Given the description of an element on the screen output the (x, y) to click on. 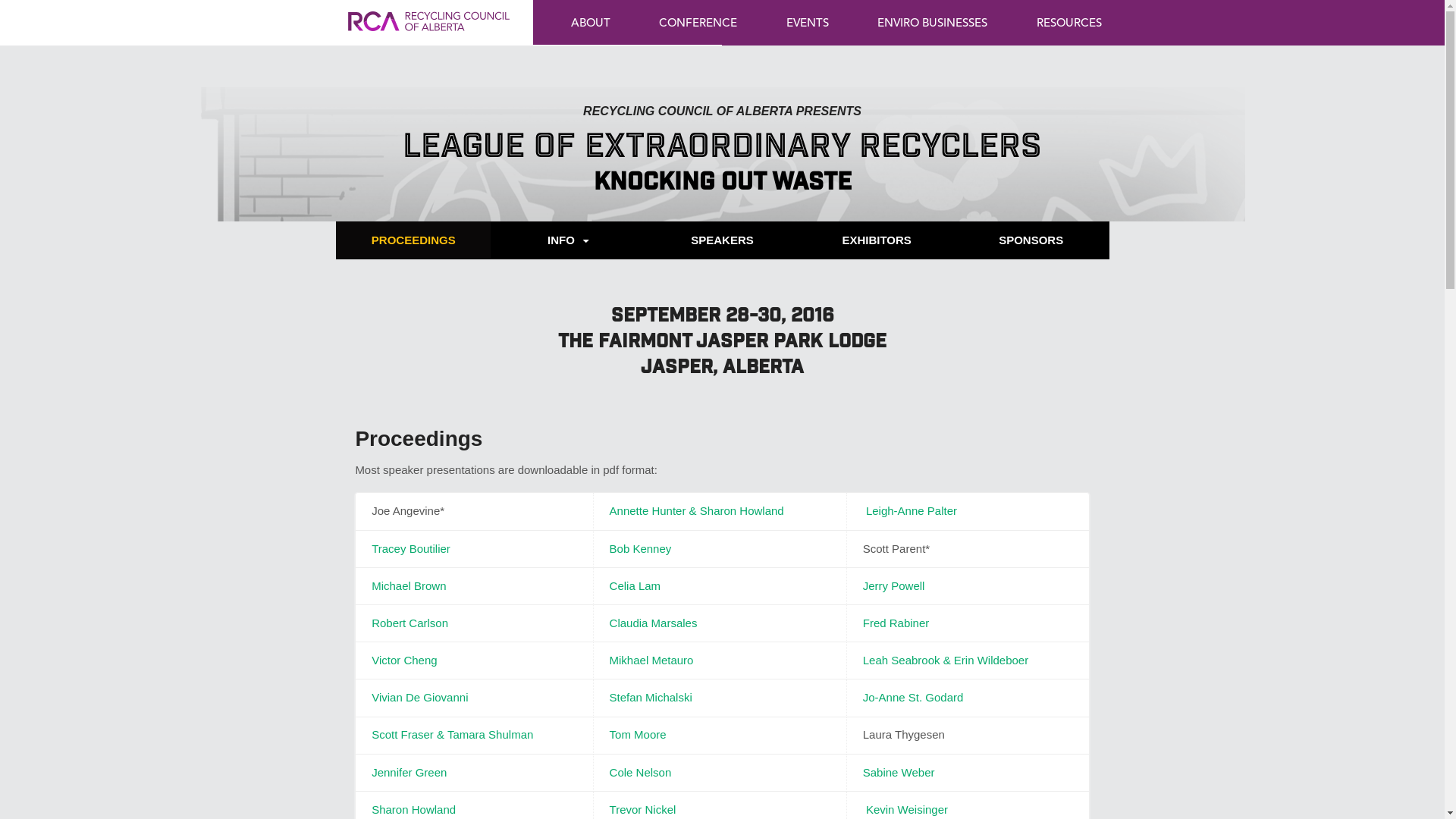
ABOUT Element type: text (590, 22)
Sharon Howland Element type: text (413, 809)
SPEAKERS Element type: text (722, 240)
Fred Rabiner Element type: text (895, 622)
Sabine Weber Element type: text (898, 771)
Victor Cheng Element type: text (403, 659)
Tracey Boutilier Element type: text (410, 547)
Claudia Marsales Element type: text (653, 622)
INFO Element type: text (567, 240)
Leah Seabrook & Erin Wildeboer Element type: text (945, 659)
Mikhael Metauro Element type: text (651, 659)
Kevin Weisinger Element type: text (906, 809)
Leigh-Anne Palter Element type: text (911, 510)
SPONSORS Element type: text (1030, 240)
EVENTS Element type: text (807, 22)
Celia Lam Element type: text (635, 585)
Cole Nelson Element type: text (640, 771)
Michael Brown Element type: text (408, 585)
Jo-Anne St. Godard Element type: text (912, 696)
Jerry Powell Element type: text (893, 585)
League of Extraordinary Recyclers Element type: text (721, 149)
Annette Hunter & Sharon Howland Element type: text (696, 510)
Stefan Michalski Element type: text (650, 696)
Knocking Out Waste Element type: text (721, 183)
CONFERENCE Element type: text (697, 22)
PROCEEDINGS Element type: text (413, 240)
RESOURCES Element type: text (1068, 22)
Tom Moore Element type: text (637, 734)
EXHIBITORS Element type: text (876, 240)
Robert Carlson Element type: text (409, 622)
Recycling Council of Alberta Logo Element type: text (428, 36)
Trevor Nickel Element type: text (642, 809)
Vivian De Giovanni Element type: text (419, 696)
Jennifer Green Element type: text (408, 771)
ENVIRO BUSINESSES Element type: text (932, 22)
Scott Fraser & Tamara Shulman Element type: text (452, 734)
Bob Kenney Element type: text (640, 547)
